Given the description of an element on the screen output the (x, y) to click on. 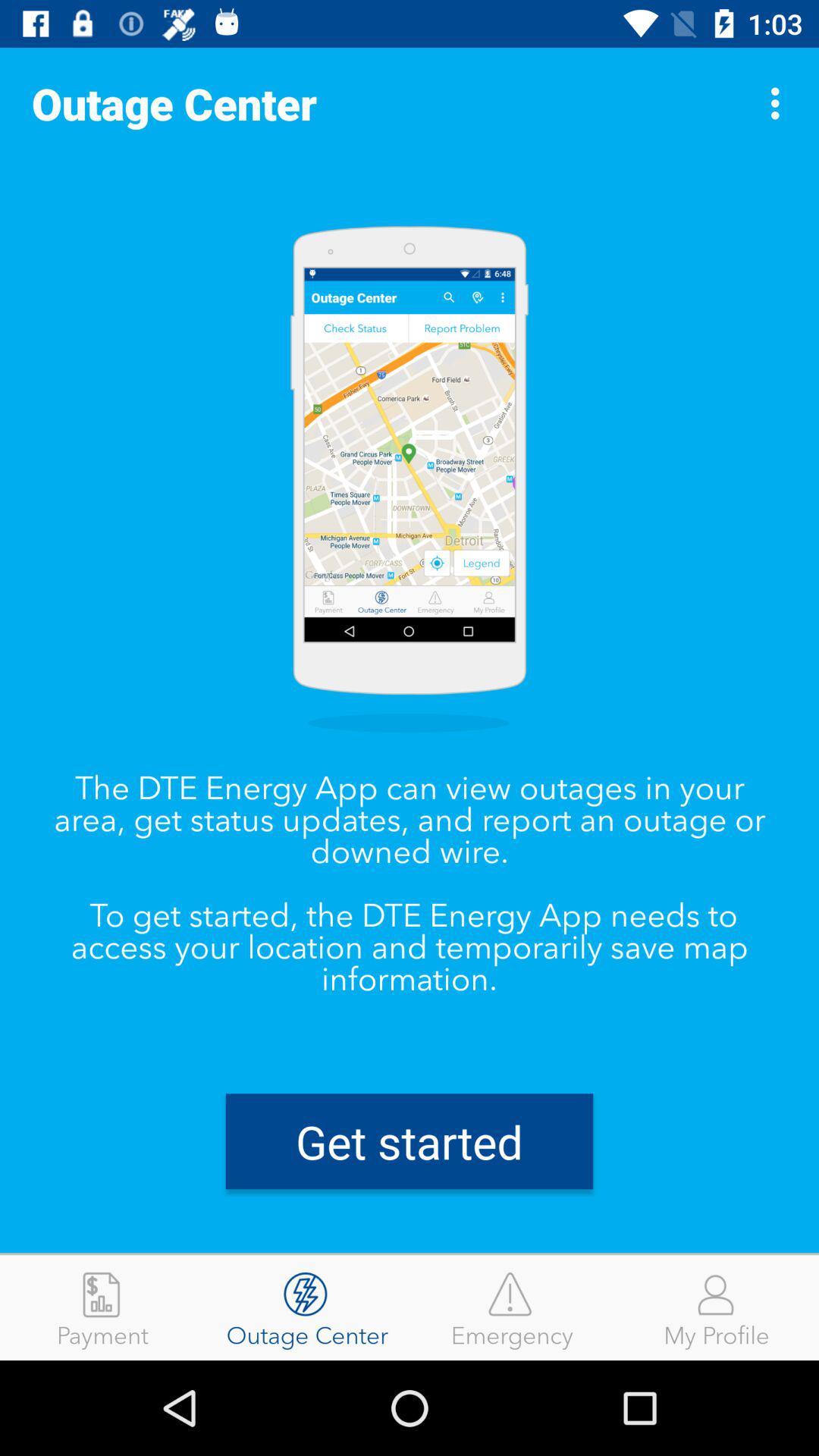
tap item to the left of the my profile icon (511, 1307)
